Given the description of an element on the screen output the (x, y) to click on. 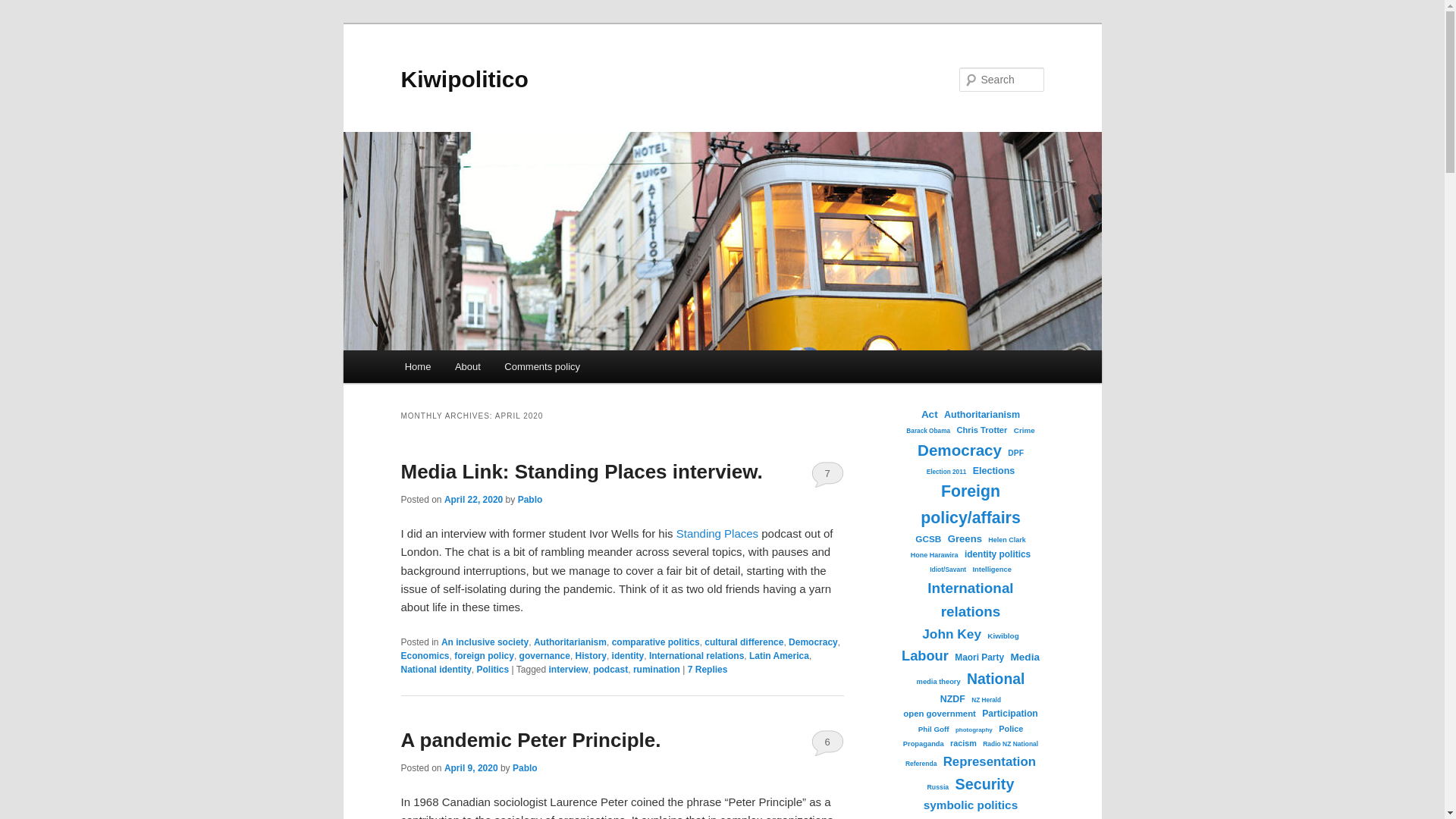
About (467, 366)
Economics (424, 655)
April 22, 2020 (473, 499)
cultural difference (743, 642)
10:20 (473, 499)
View all posts by Pablo (524, 767)
Comments policy (542, 366)
National identity (435, 669)
rumination (656, 669)
A pandemic Peter Principle. (530, 739)
7 (827, 473)
foreign policy (483, 655)
Media Link: Standing Places interview. (580, 471)
Politics (493, 669)
